Given the description of an element on the screen output the (x, y) to click on. 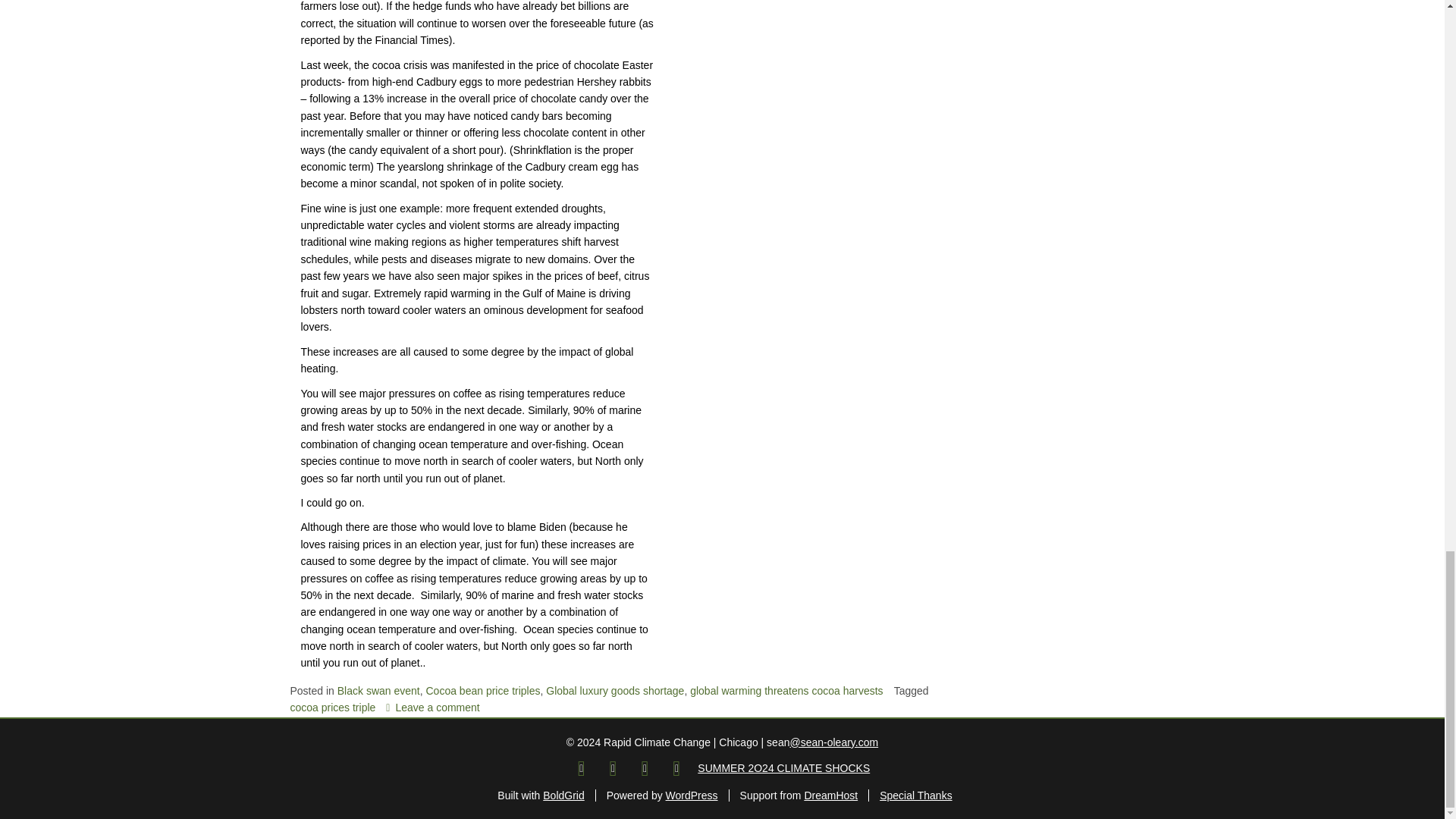
DreamHost (830, 795)
LINKEDIN (645, 767)
FACEBOOK (581, 767)
Youtube (676, 767)
Cocoa bean price triples (483, 690)
YOUTUBE (676, 767)
TWITTER (613, 767)
Global luxury goods shortage (615, 690)
SUMMER 2O24 CLIMATE SHOCKS (783, 767)
cocoa prices triple (332, 707)
BoldGrid (563, 795)
global warming threatens cocoa harvests (786, 690)
Rapid Climate Change (613, 767)
Facebook (581, 767)
Black swan event (378, 690)
